Given the description of an element on the screen output the (x, y) to click on. 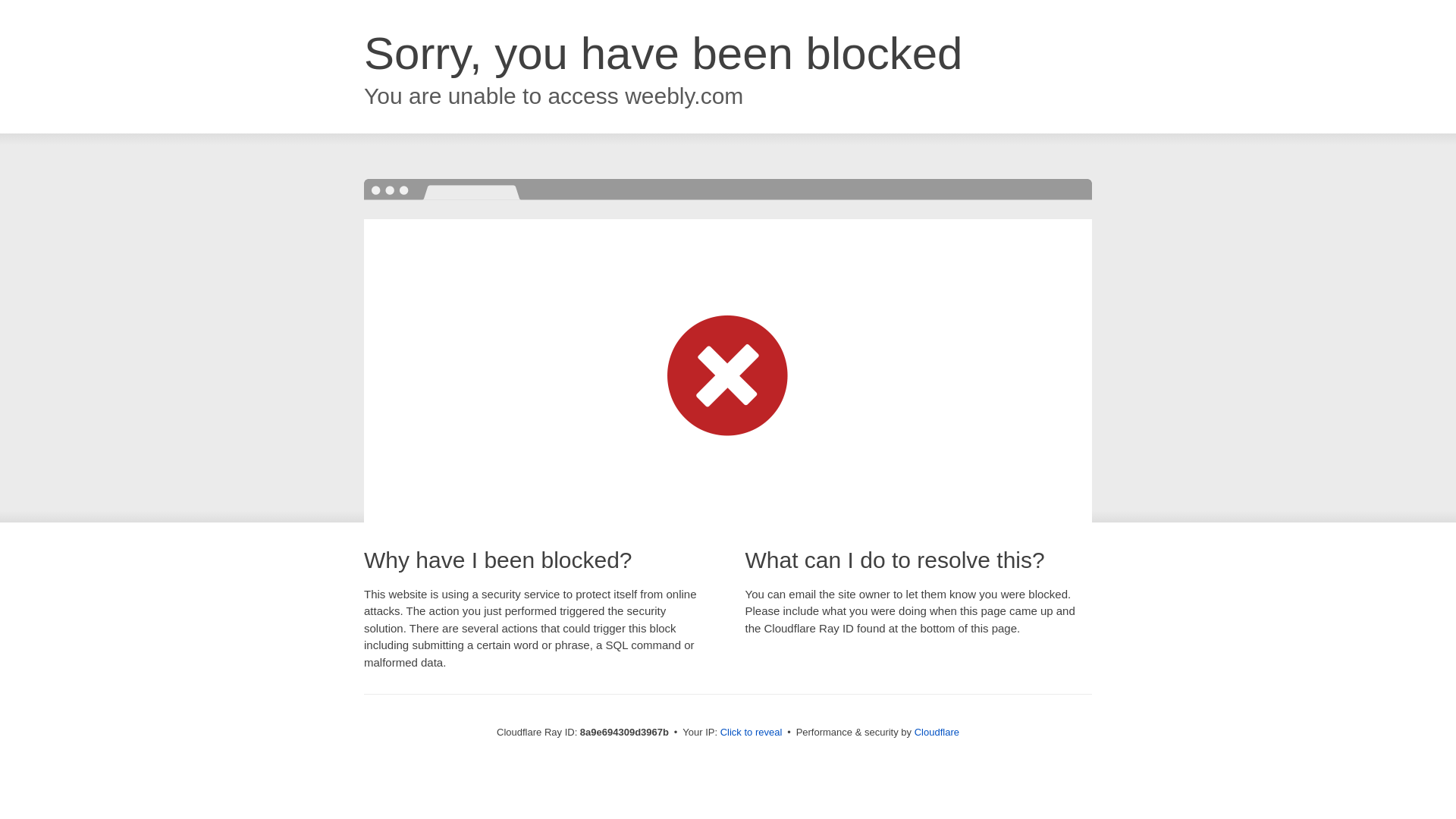
Click to reveal (751, 732)
Cloudflare (936, 731)
